Given the description of an element on the screen output the (x, y) to click on. 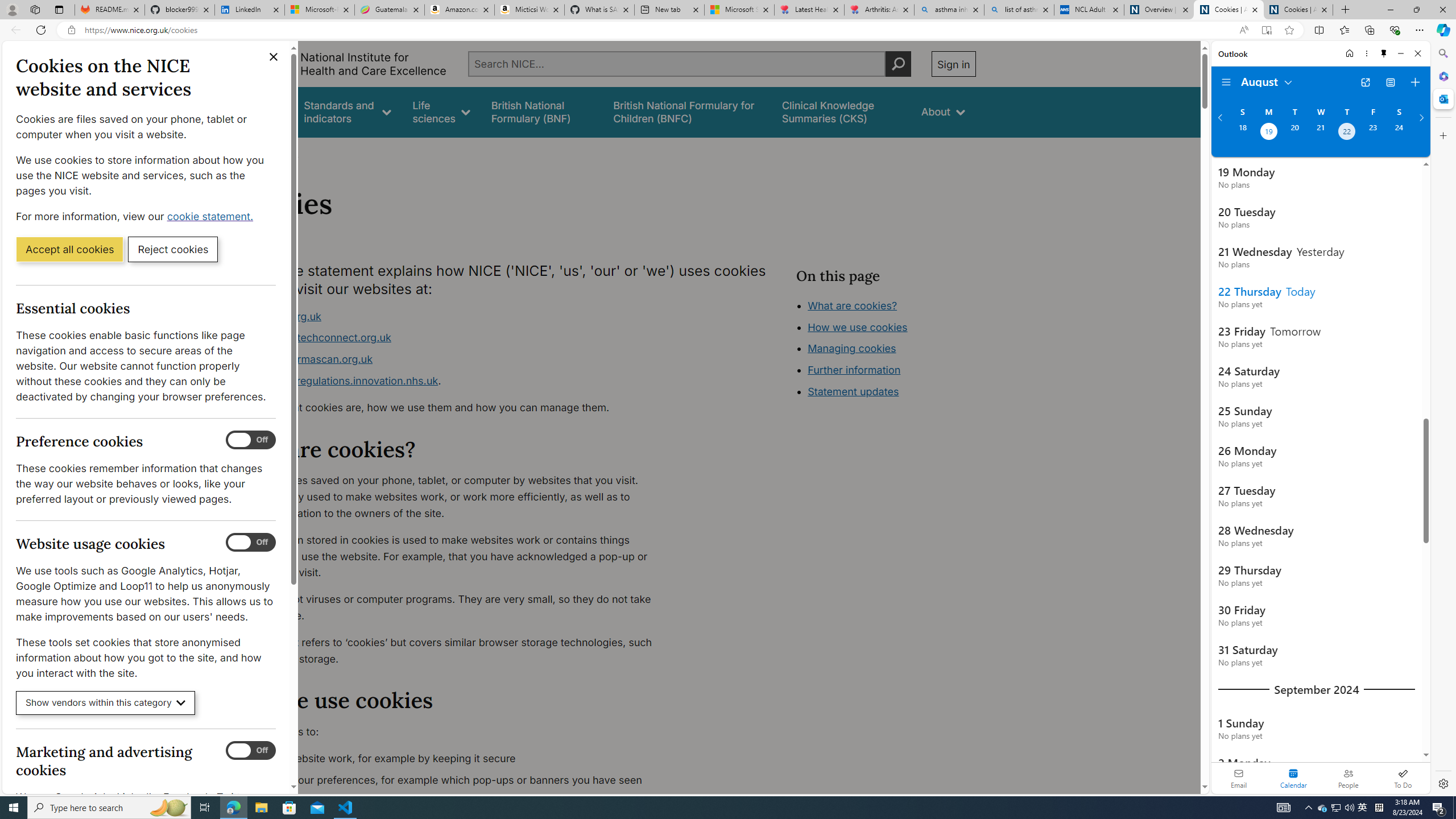
Folder navigation (1225, 82)
asthma inhaler - Search (949, 9)
Reject cookies (173, 248)
Further information (854, 369)
www.nice.org.uk (279, 315)
www.healthtechconnect.org.uk (452, 338)
How we use cookies (896, 389)
NCL Adult Asthma Inhaler Choice Guideline (1088, 9)
Guidance (260, 111)
